Given the description of an element on the screen output the (x, y) to click on. 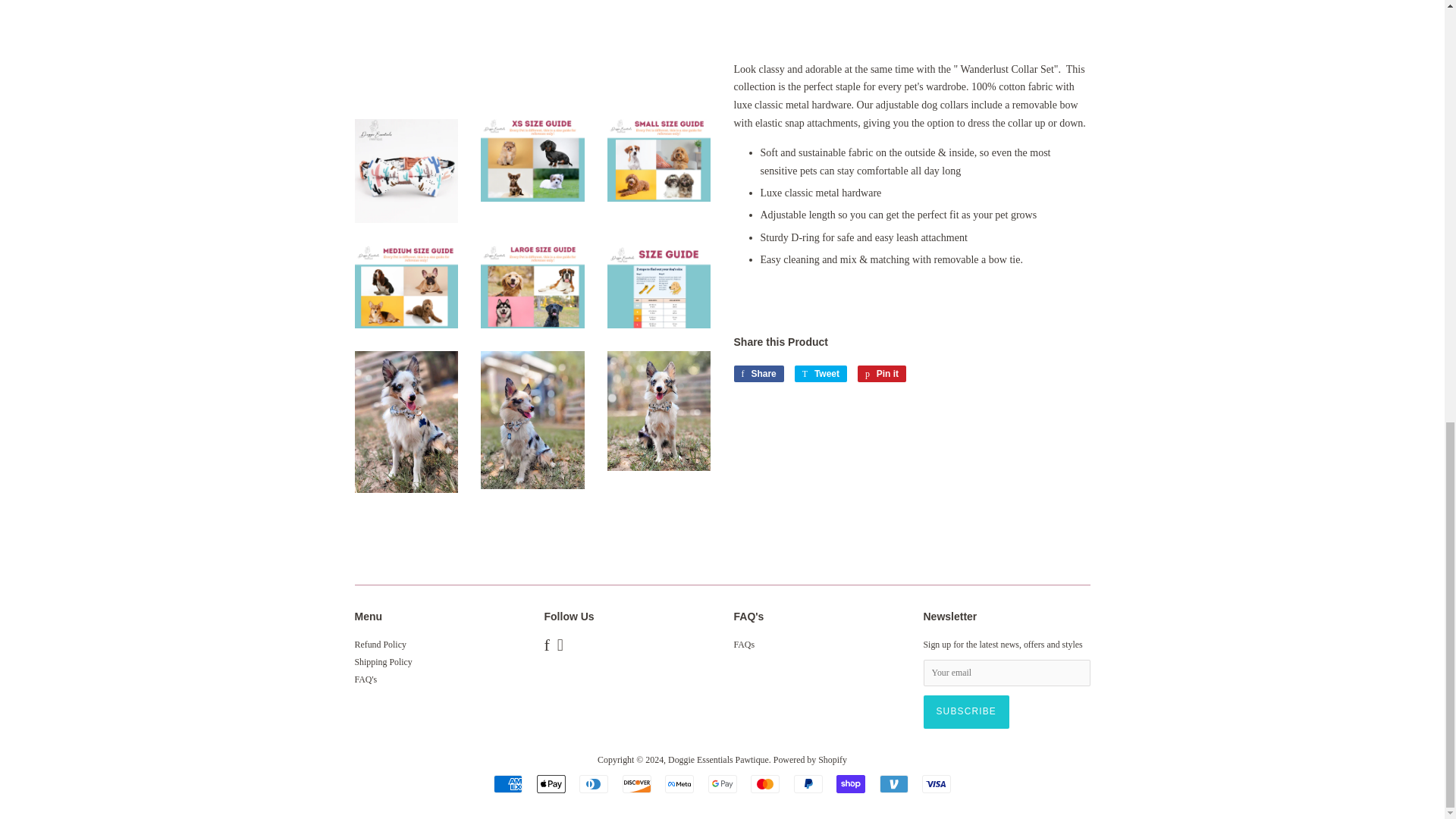
Subscribe (966, 711)
American Express (507, 783)
Share on Facebook (758, 373)
PayPal (807, 783)
Discover (635, 783)
Visa (935, 783)
Shop Pay (849, 783)
Pin on Pinterest (881, 373)
Meta Pay (679, 783)
Apple Pay (551, 783)
